Given the description of an element on the screen output the (x, y) to click on. 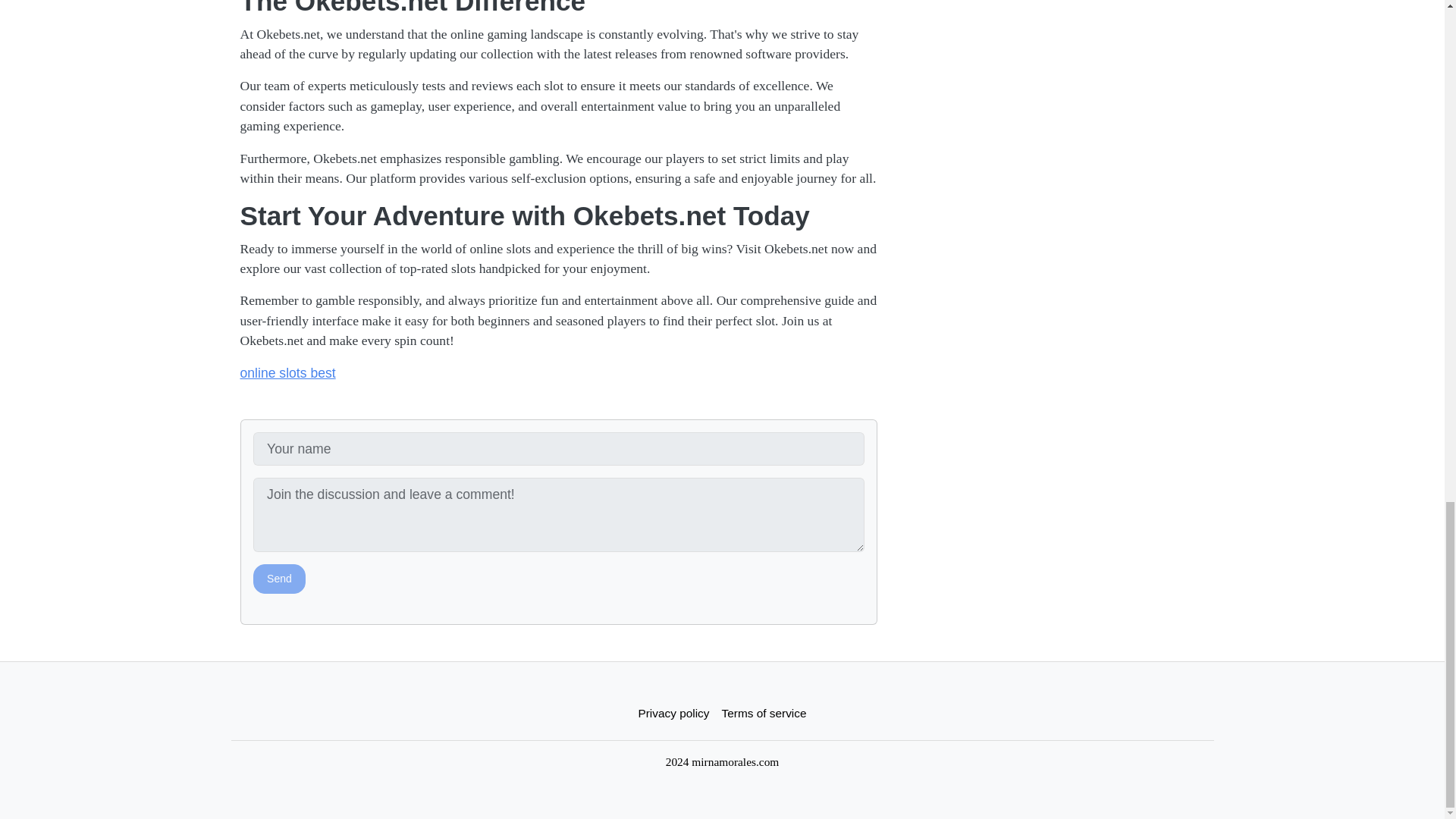
Terms of service (764, 713)
Send (279, 577)
Privacy policy (672, 713)
online slots best (287, 372)
Send (279, 577)
